Given the description of an element on the screen output the (x, y) to click on. 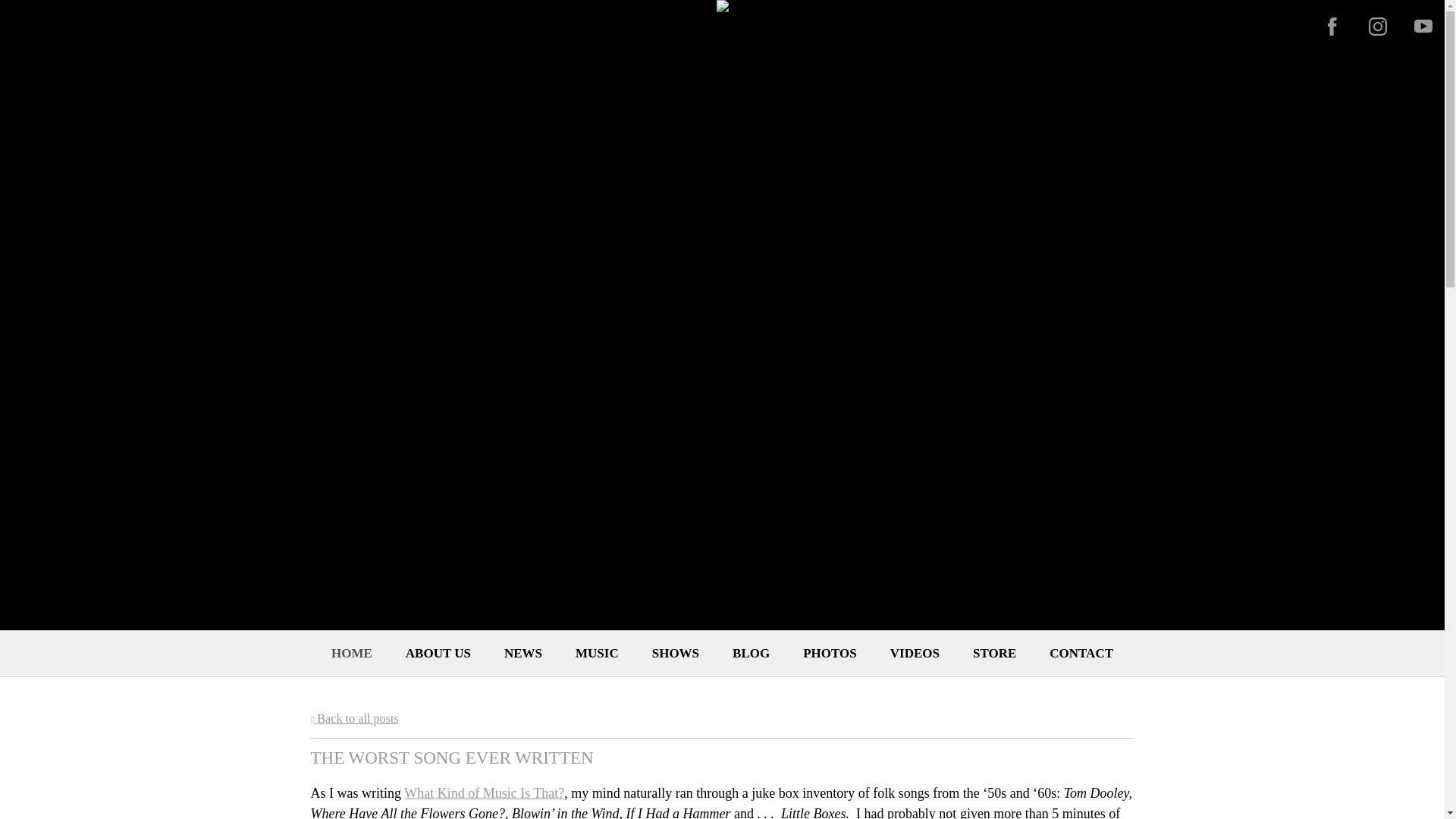
PHOTOS (829, 653)
VIDEOS (914, 653)
BLOG (751, 653)
NEWS (523, 653)
What Kind of Music Is That? (484, 792)
MUSIC (596, 653)
HOME (351, 653)
CONTACT (1080, 653)
SHOWS (675, 653)
Back to all posts (354, 717)
